Given the description of an element on the screen output the (x, y) to click on. 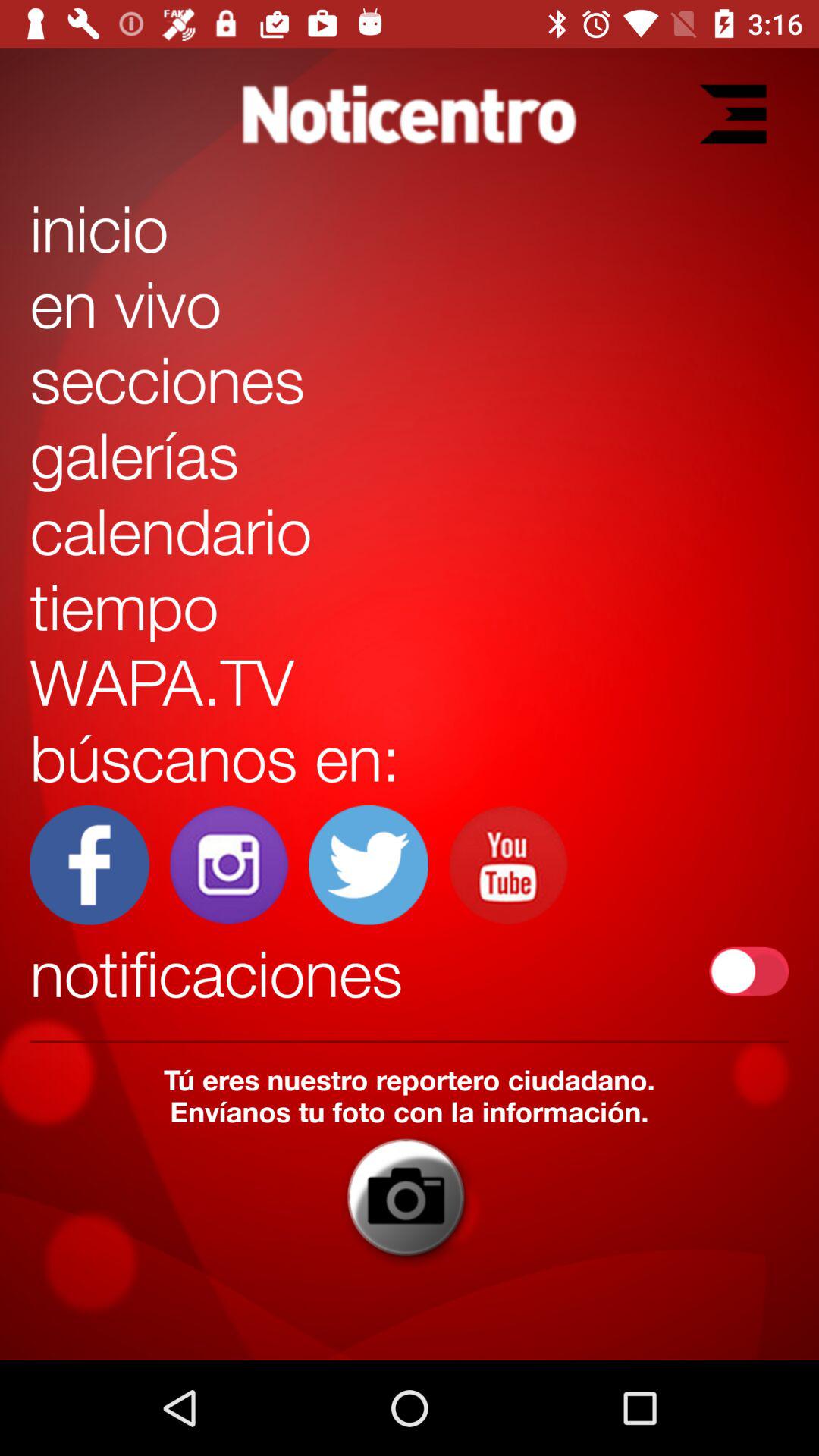
youtube switch (507, 864)
